Given the description of an element on the screen output the (x, y) to click on. 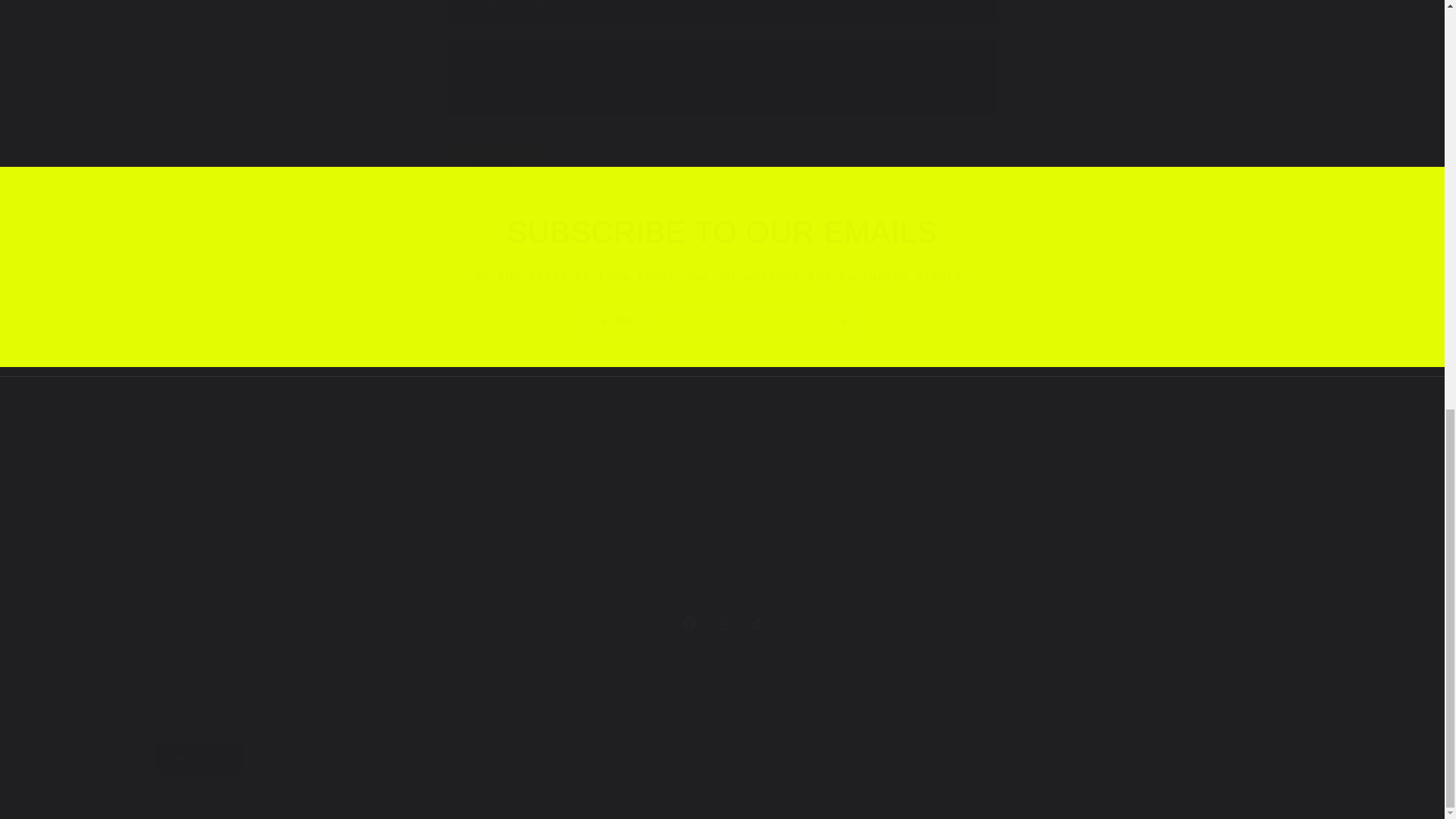
E-Mail (721, 622)
SUBSCRIBE TO OUR EMAILS (722, 321)
